Given the description of an element on the screen output the (x, y) to click on. 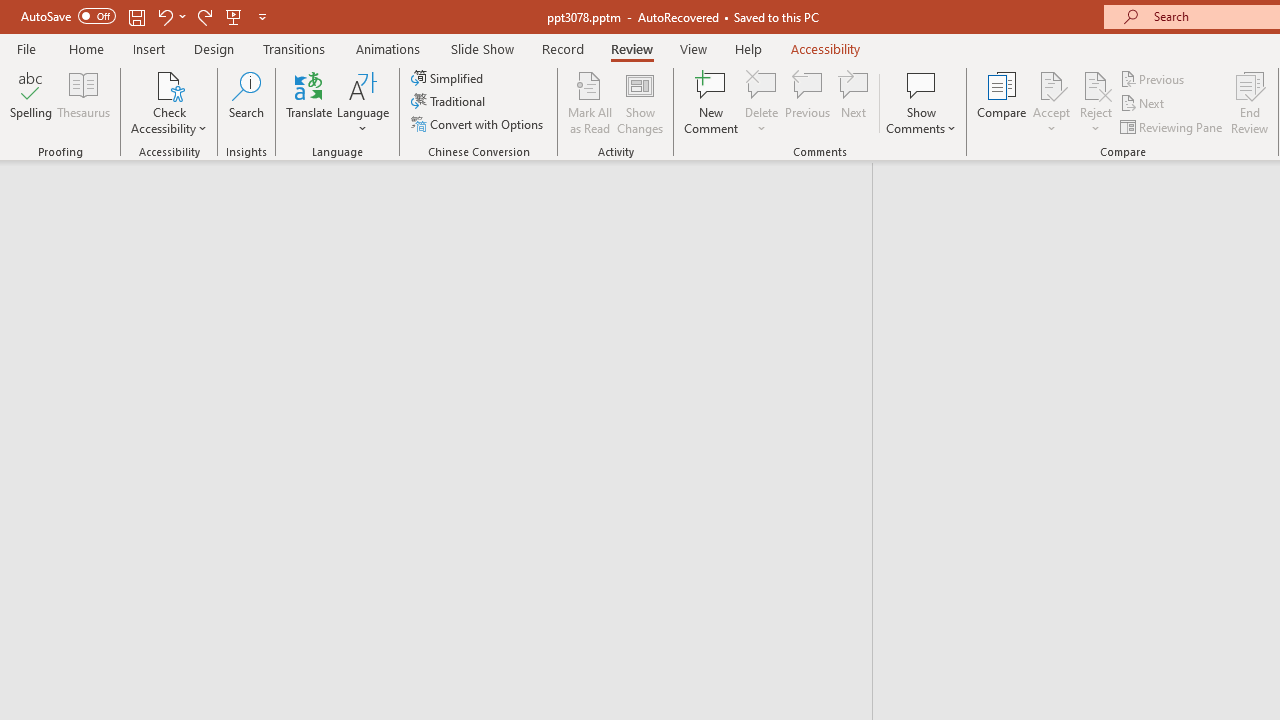
Previous (1153, 78)
Spelling... (31, 102)
Language (363, 102)
Thesaurus... (83, 102)
Translate (309, 102)
Convert with Options... (479, 124)
Next (1144, 103)
Show Comments (921, 102)
